Given the description of an element on the screen output the (x, y) to click on. 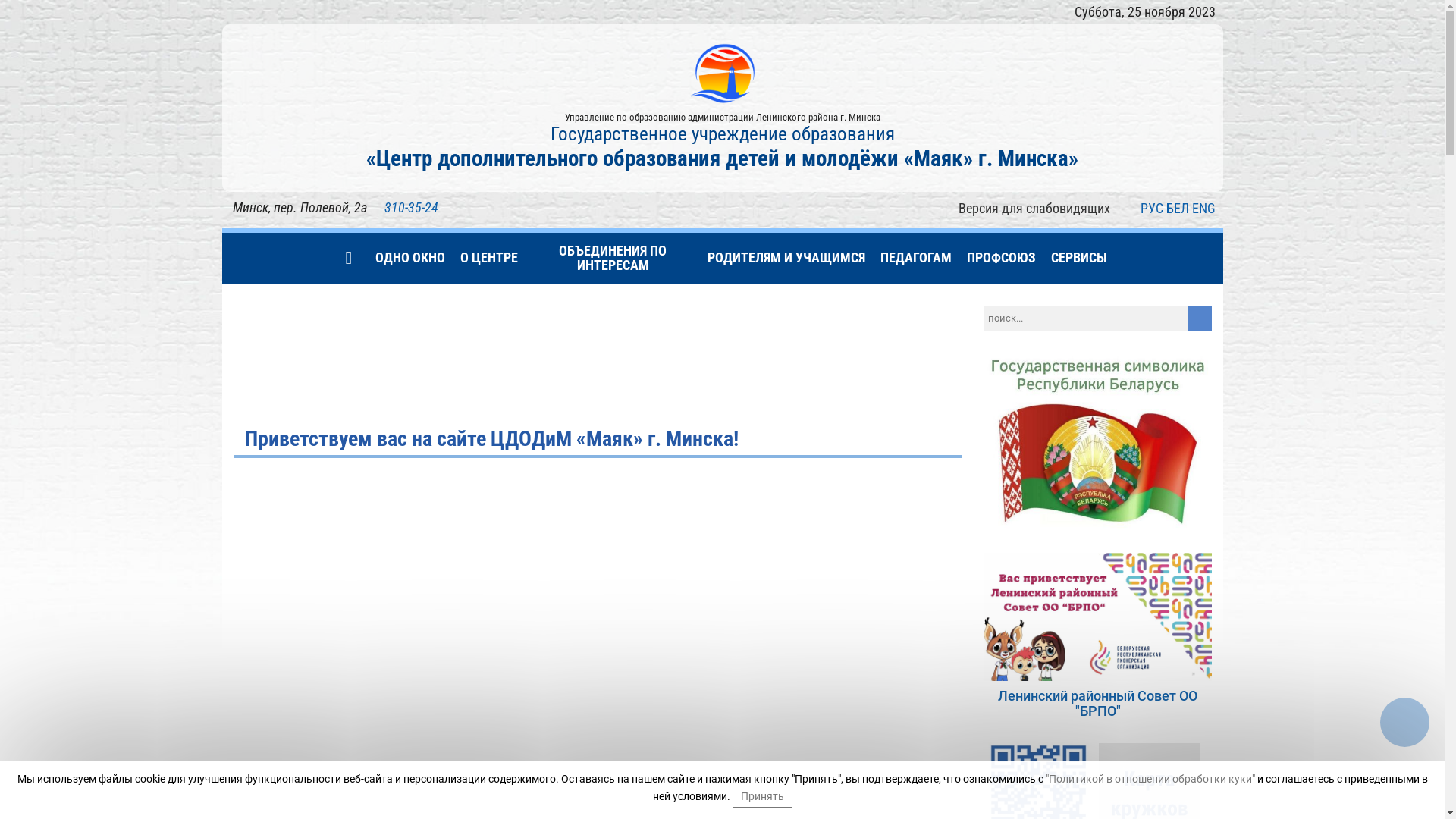
310-35-24 Element type: text (410, 207)
ENG Element type: text (1203, 208)
